Given the description of an element on the screen output the (x, y) to click on. 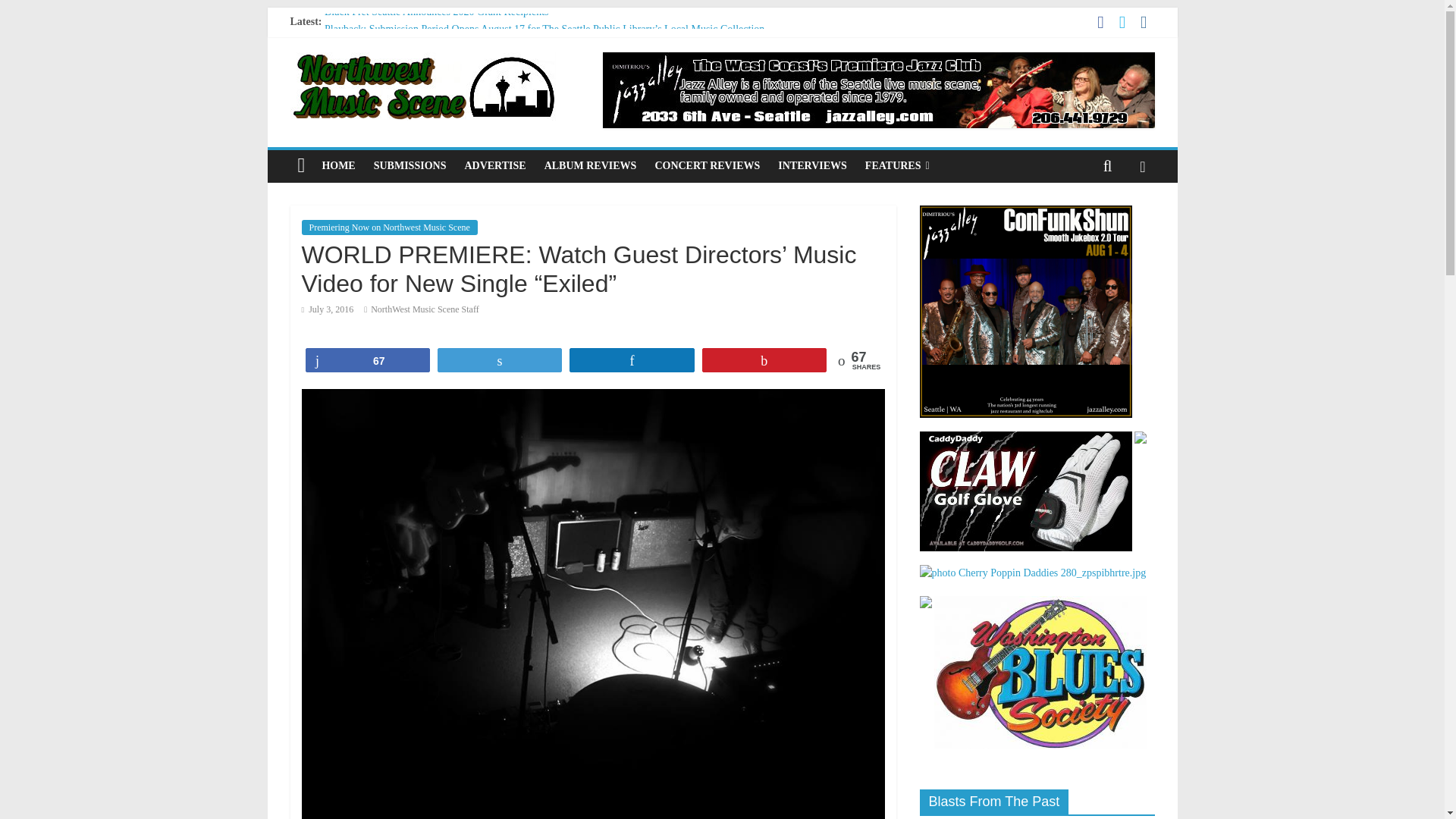
Black Fret Seattle Announces 2020 Grant Recipients (436, 11)
NorthWest Music Scene Staff (425, 308)
HOME (338, 165)
NorthWest Music Scene Staff (425, 308)
July 3, 2016 (327, 308)
Premiering Now on Northwest Music Scene (389, 227)
ALBUM REVIEWS (590, 165)
SUBMISSIONS (410, 165)
2:36 pm (327, 308)
CONCERT REVIEWS (706, 165)
67 (367, 359)
Black Fret Seattle Announces 2020 Grant Recipients (436, 11)
ADVERTISE (494, 165)
INTERVIEWS (812, 165)
FEATURES (897, 165)
